Given the description of an element on the screen output the (x, y) to click on. 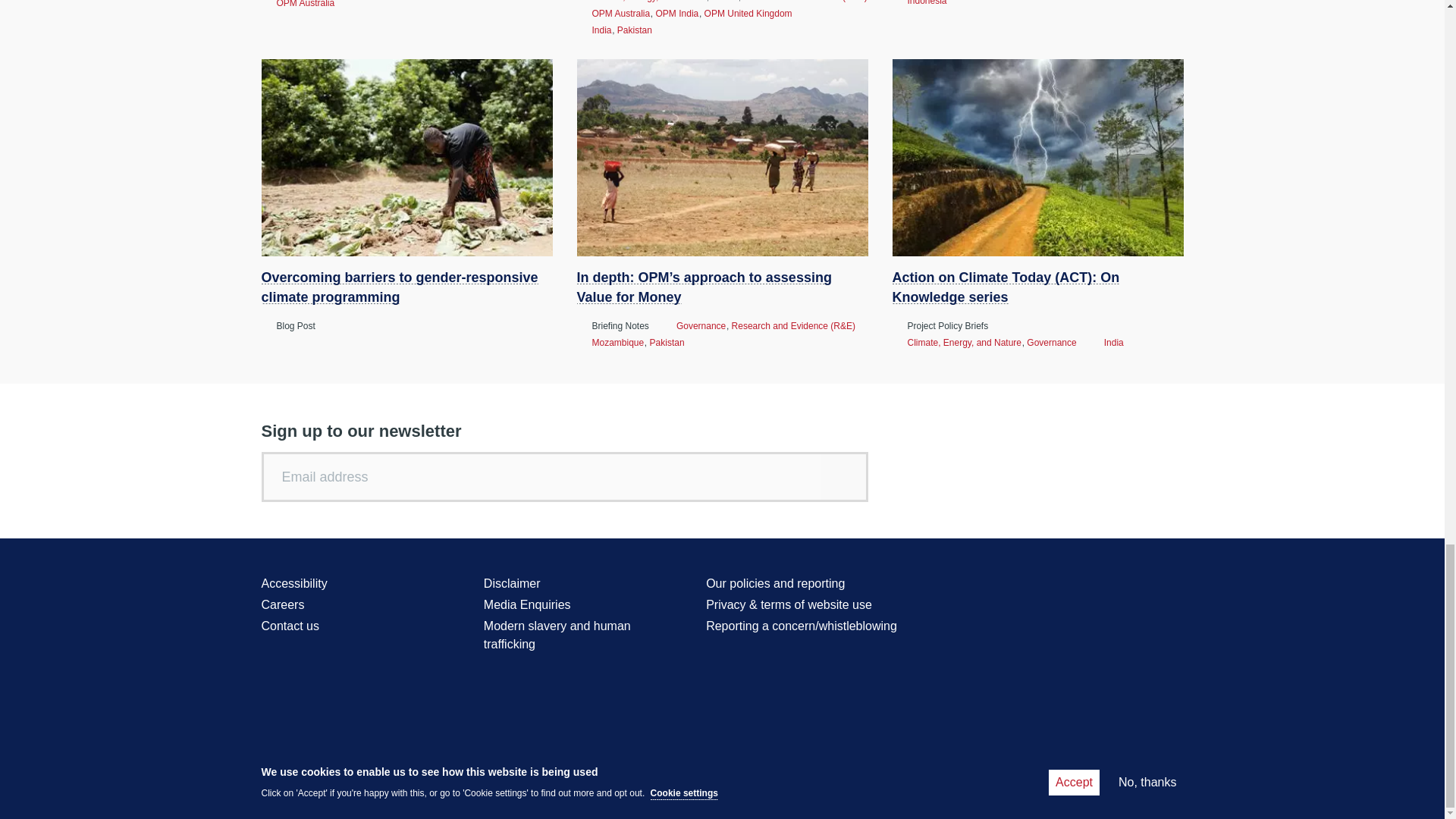
Vimeo (1172, 585)
Facebook (1088, 585)
LinkedIn (1143, 585)
YouTube (1115, 585)
Twitter (1060, 585)
